Given the description of an element on the screen output the (x, y) to click on. 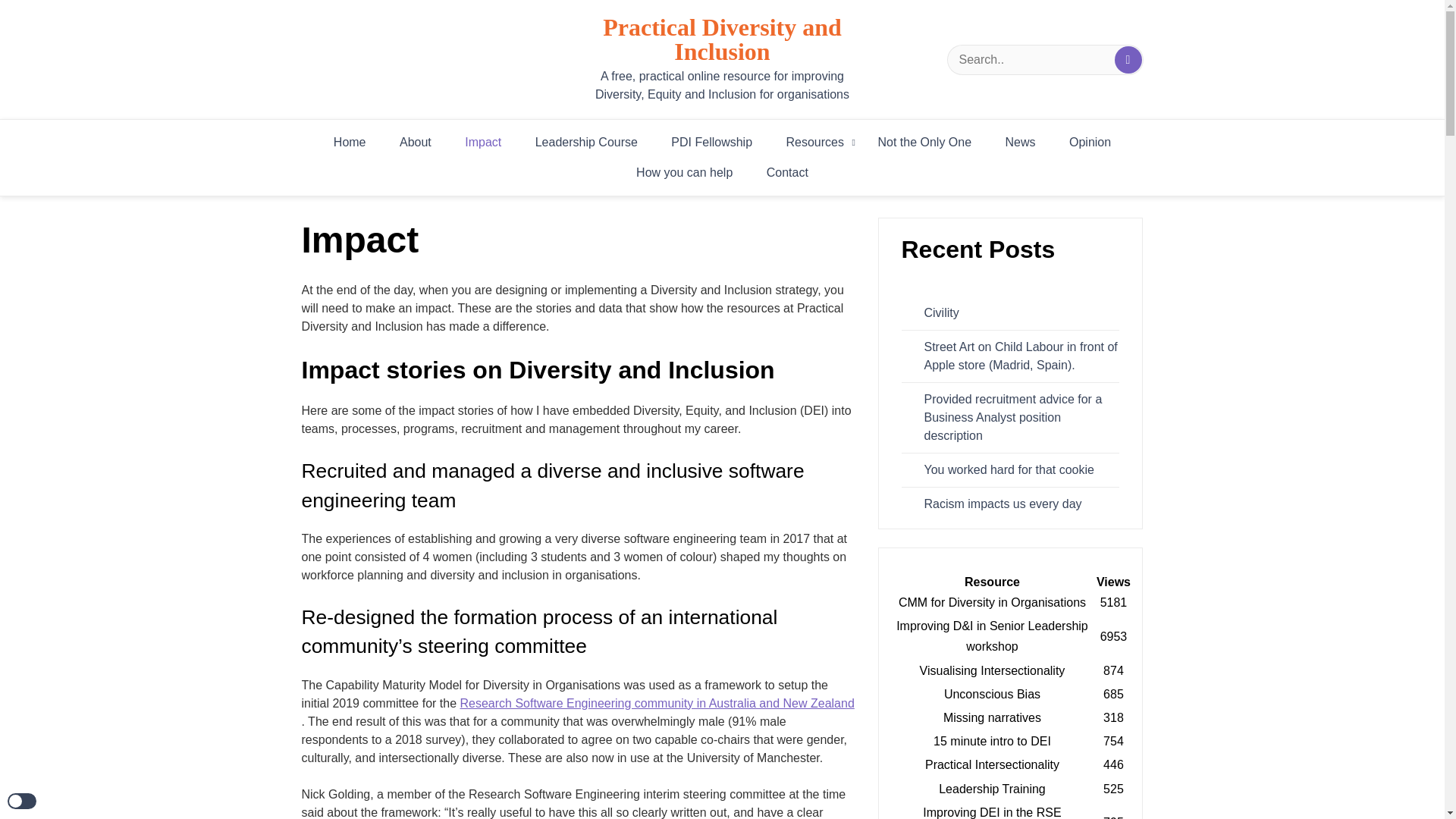
Home (349, 142)
You worked hard for that cookie (997, 470)
PDI Fellowship (711, 142)
Contact (787, 173)
Resources (815, 142)
News (1020, 142)
About (415, 142)
Racism impacts us every day (991, 504)
Leadership Course (585, 142)
How you can help (684, 173)
